Given the description of an element on the screen output the (x, y) to click on. 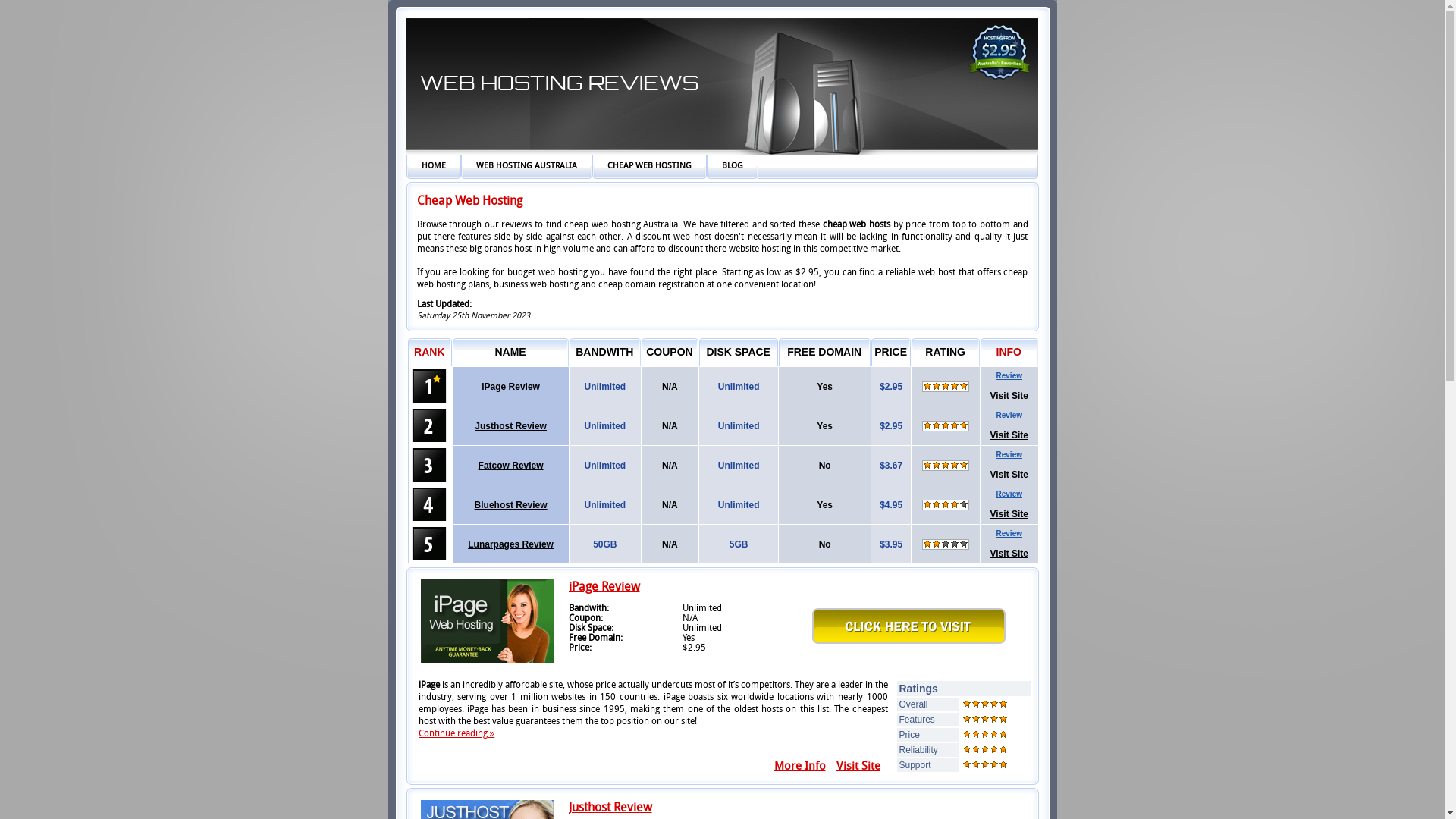
Review Element type: text (1009, 533)
BLOG Element type: text (732, 166)
Review Element type: text (1009, 375)
Visit Site Element type: text (1009, 553)
CHEAP WEB HOSTING Element type: text (648, 166)
Fatcow Review Element type: text (510, 464)
Visit Site Element type: text (1009, 434)
Visit Site Element type: text (1009, 395)
Bluehost Review Element type: text (510, 503)
iPage Review Element type: text (604, 587)
Visit Site Element type: text (1009, 474)
WEB HOSTING AUSTRALIA Element type: text (526, 166)
HOME Element type: text (433, 166)
Lunarpages Review Element type: text (510, 543)
Visit Site Element type: text (857, 766)
Visit Site Element type: text (1009, 513)
iPage Review Element type: text (510, 385)
Justhost Review Element type: text (610, 808)
Review Element type: text (1009, 454)
More Info Element type: text (799, 766)
Review Element type: text (1009, 493)
Review Element type: text (1009, 415)
Justhost Review Element type: text (510, 425)
